Given the description of an element on the screen output the (x, y) to click on. 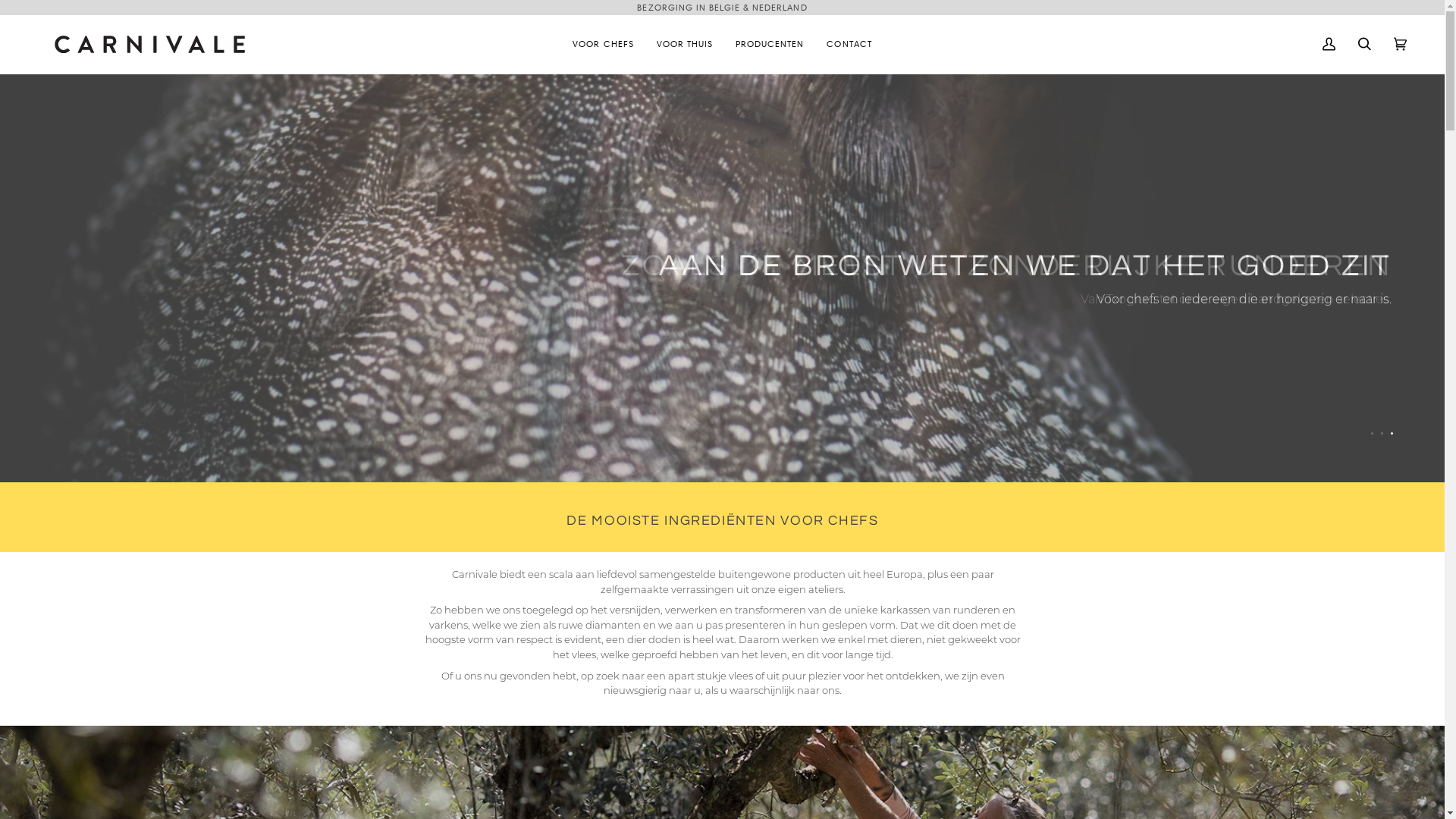
VOOR CHEFS Element type: text (602, 44)
View slide 2 Element type: text (1381, 433)
View slide 3 Element type: text (1391, 433)
Mijn account Element type: text (1328, 44)
VOOR THUIS Element type: text (684, 44)
CONTACT Element type: text (848, 44)
Winkelwagen
(0) Element type: text (1400, 44)
PRODUCENTEN Element type: text (769, 44)
Zoek Element type: text (1364, 44)
View slide 1 Element type: text (1372, 433)
